Given the description of an element on the screen output the (x, y) to click on. 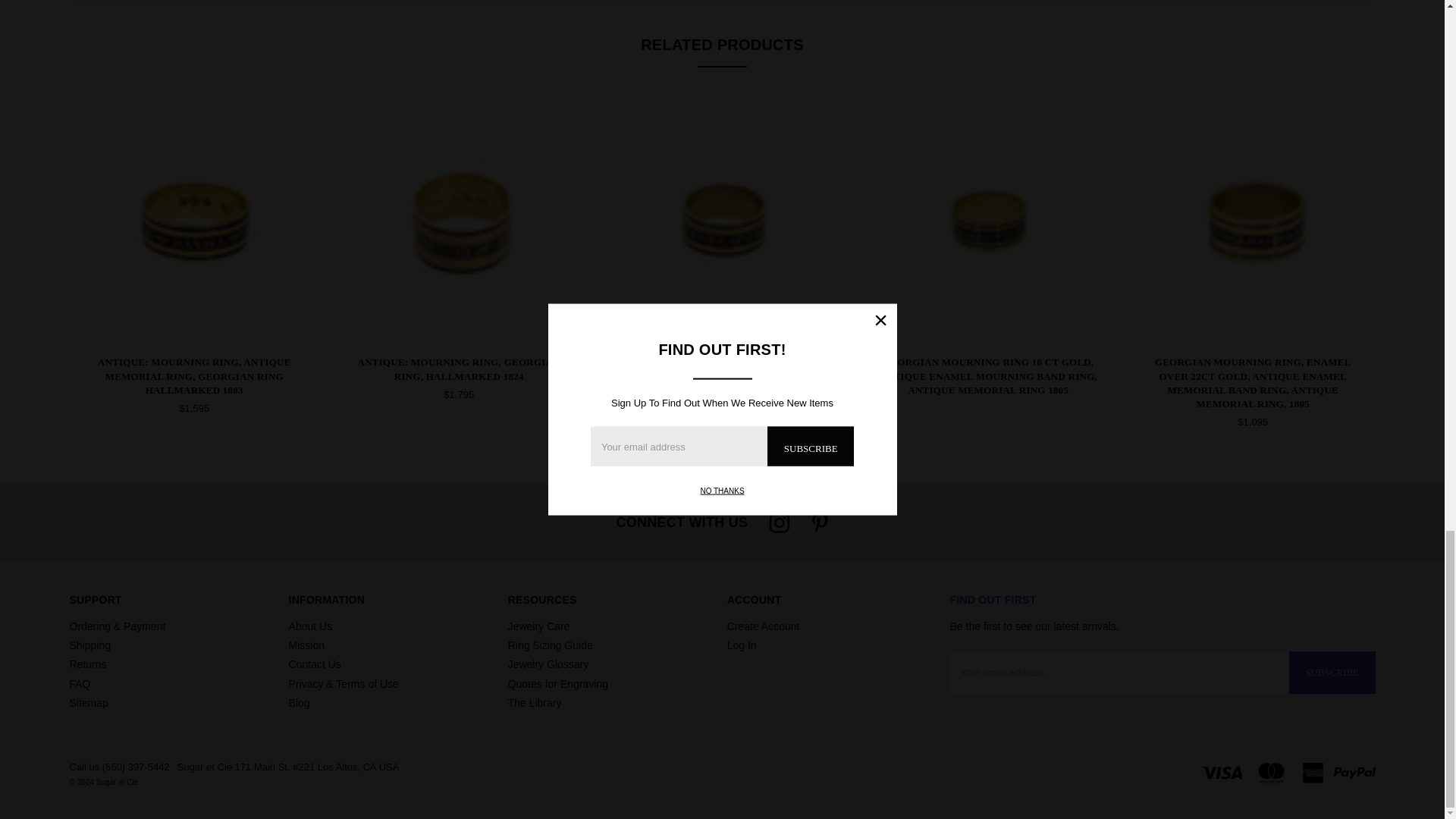
Georgian mourning ring in black and gold (1252, 221)
Georgian mourning ring band in black enamel and 18 ct gold (988, 221)
Subscribe (1331, 672)
Antique Mourning Ring, Georgian (459, 221)
Antique mourning ring, Georgian , 1803 (194, 221)
